Given the description of an element on the screen output the (x, y) to click on. 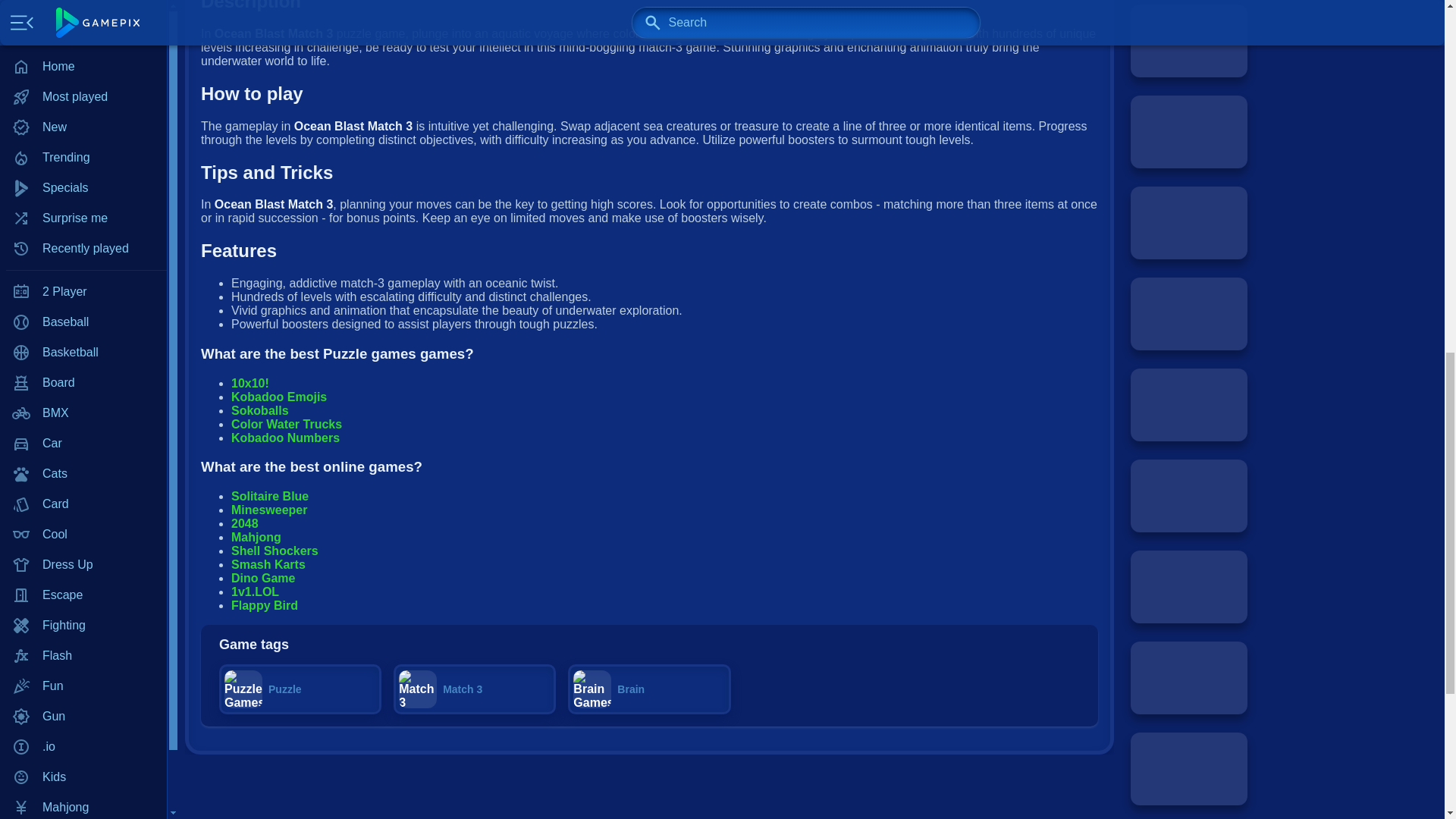
RPG (83, 170)
Mario (83, 19)
Poker (83, 79)
Shooter (83, 200)
Snake (83, 261)
Math (83, 49)
Word (83, 352)
Solitaire (83, 231)
Soccer (83, 291)
War (83, 322)
